Given the description of an element on the screen output the (x, y) to click on. 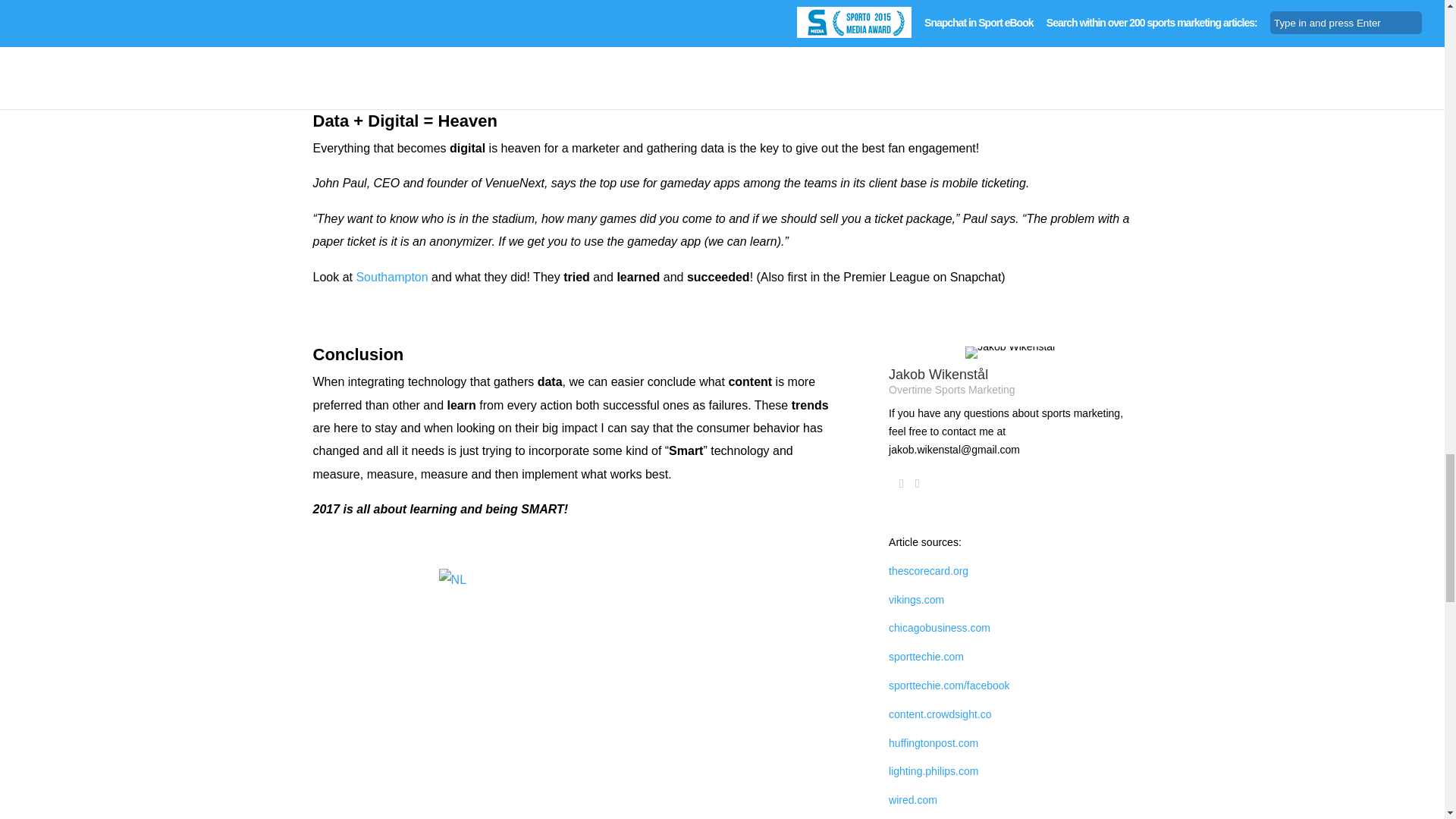
Southampton (391, 277)
lighting.philips.com (933, 770)
huffingtonpost.com (933, 743)
sporttechie.com (925, 656)
content.crowdsight.co (939, 714)
chicagobusiness.com (939, 627)
wired.com (912, 799)
vikings.com (915, 599)
thescorecard.org (928, 571)
